Given the description of an element on the screen output the (x, y) to click on. 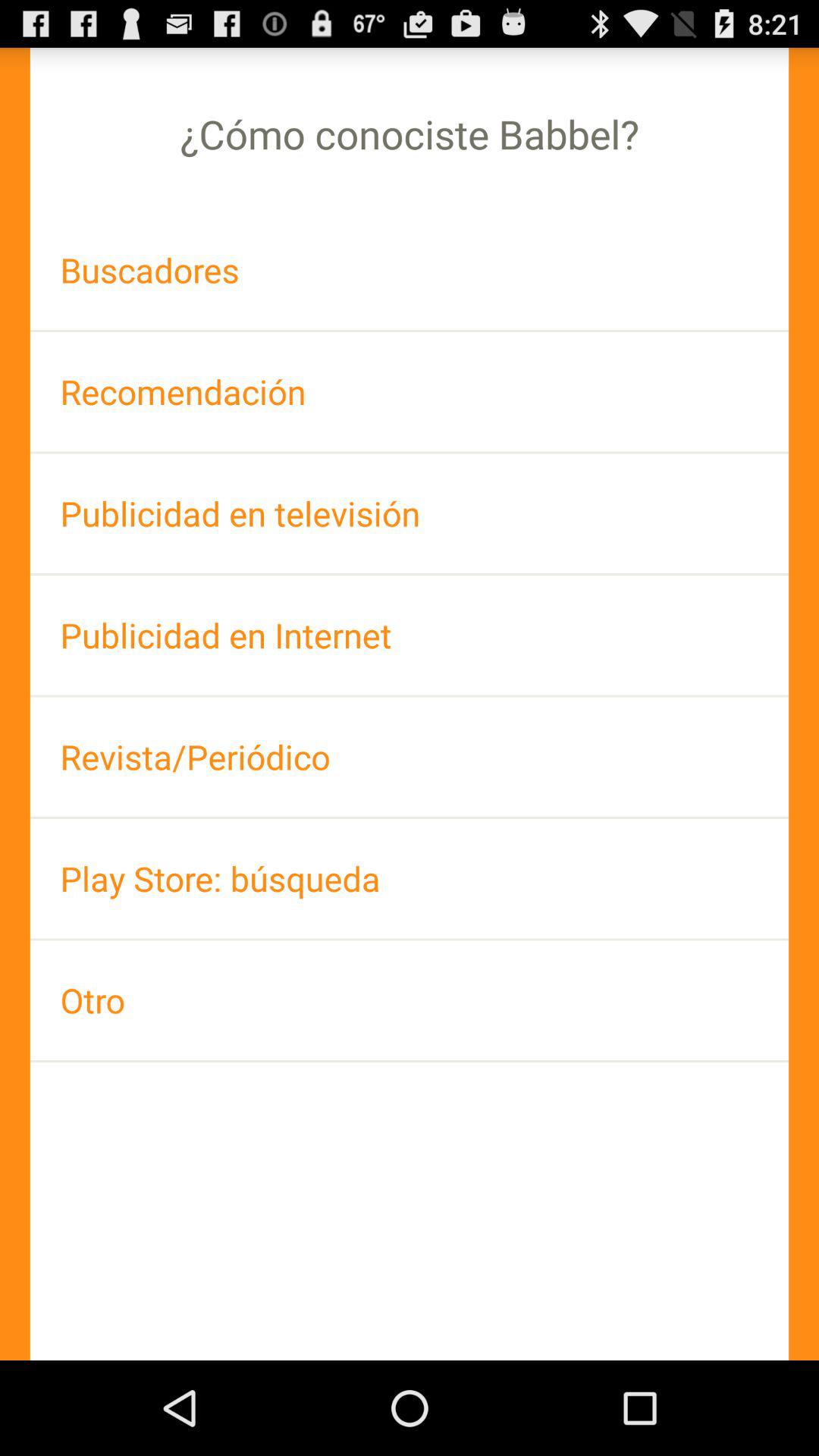
select the buscadores item (409, 269)
